Given the description of an element on the screen output the (x, y) to click on. 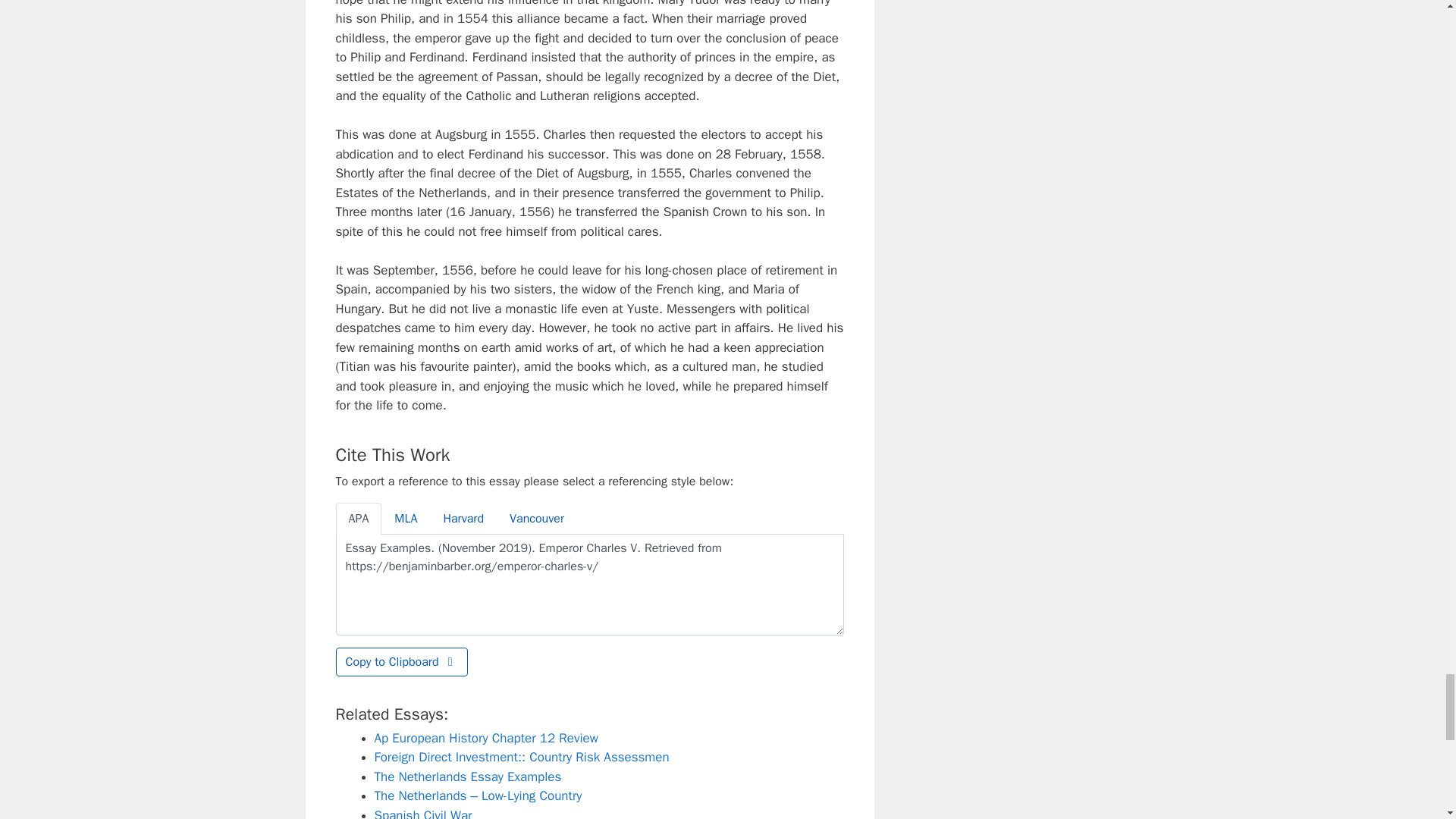
Spanish Civil War (422, 813)
Copy to Clipboard (400, 661)
Foreign Direct Investment:: Country Risk Assessmen (521, 756)
Vancouver (536, 518)
The Netherlands Essay Examples (468, 776)
APA (357, 518)
The Netherlands Essay Examples (468, 776)
Ap European History Chapter 12 Review (486, 738)
Harvard (462, 518)
Foreign Direct Investment:: Country Risk Assessmen (521, 756)
